Given the description of an element on the screen output the (x, y) to click on. 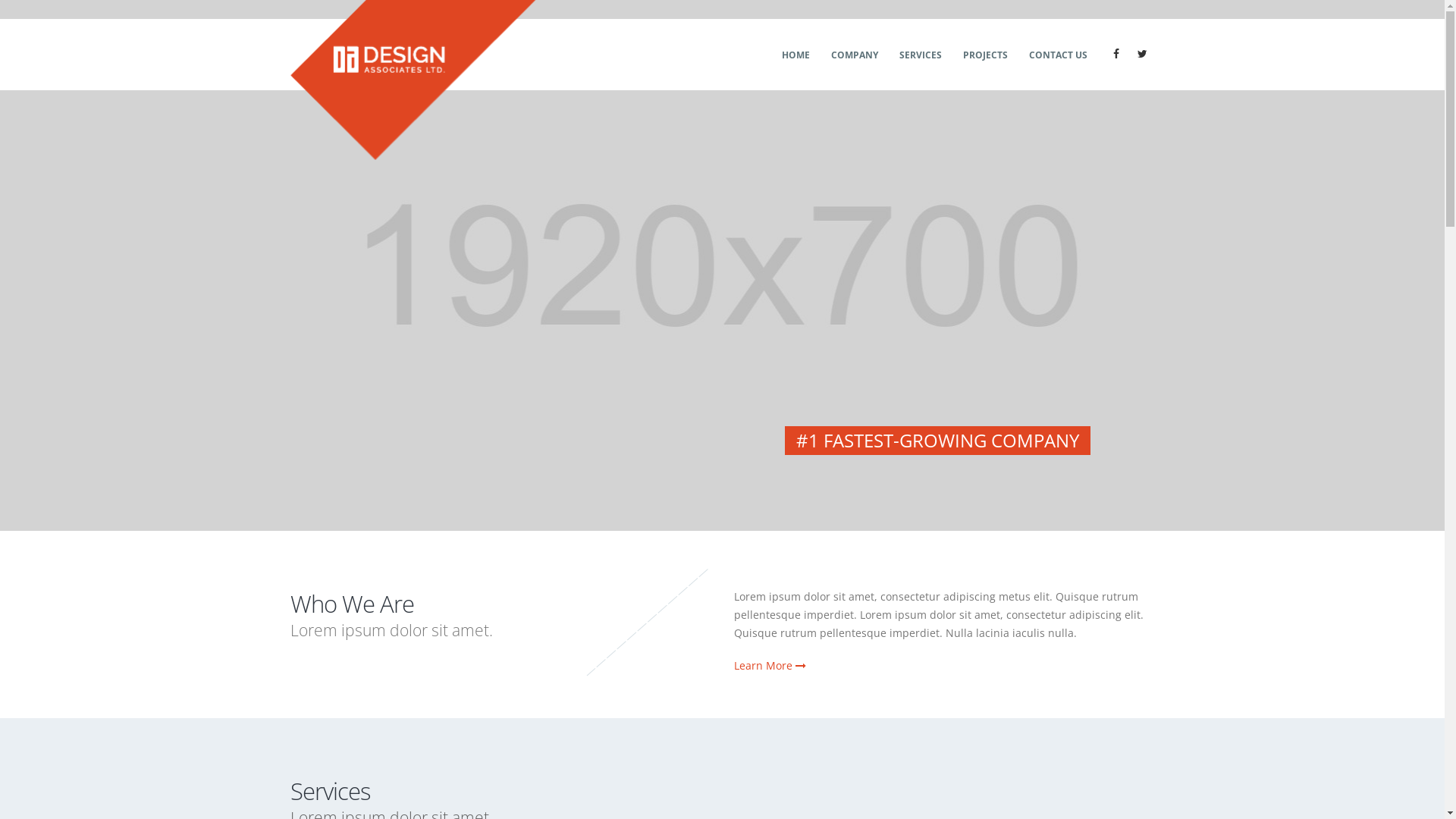
Facebook Element type: hover (1115, 53)
PROJECTS Element type: text (984, 54)
CONTACT US Element type: text (1058, 54)
Learn More Element type: text (770, 665)
Twitter Element type: hover (1142, 53)
COMPANY Element type: text (853, 54)
SERVICES Element type: text (919, 54)
HOME Element type: text (795, 54)
